Given the description of an element on the screen output the (x, y) to click on. 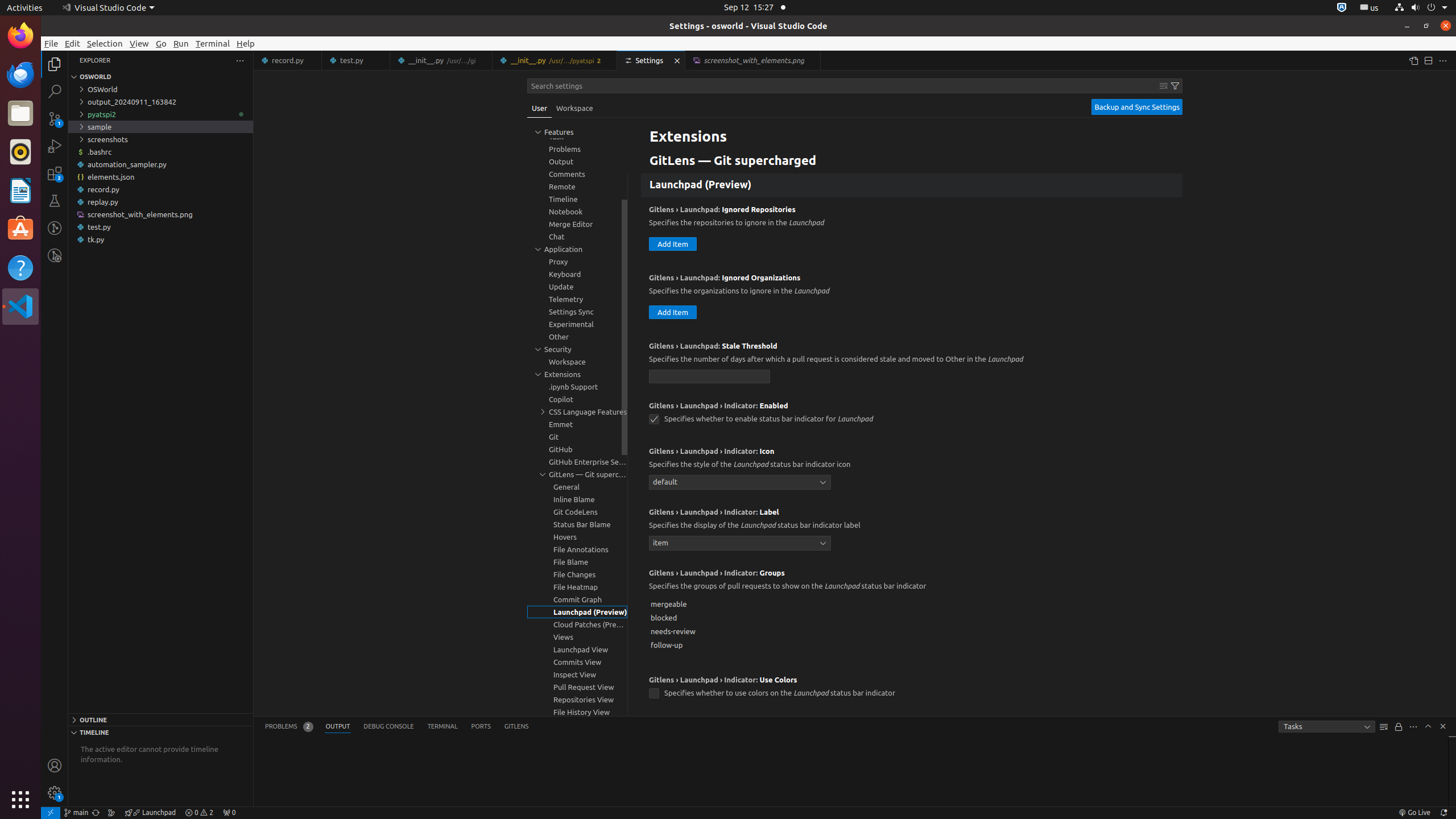
Manage - New Code update available. Element type: push-button (54, 792)
Tasks Element type: menu-item (1326, 726)
Update, group Element type: tree-item (577, 286)
Edit Element type: push-button (72, 43)
Status Bar Blame, group Element type: tree-item (577, 524)
